Given the description of an element on the screen output the (x, y) to click on. 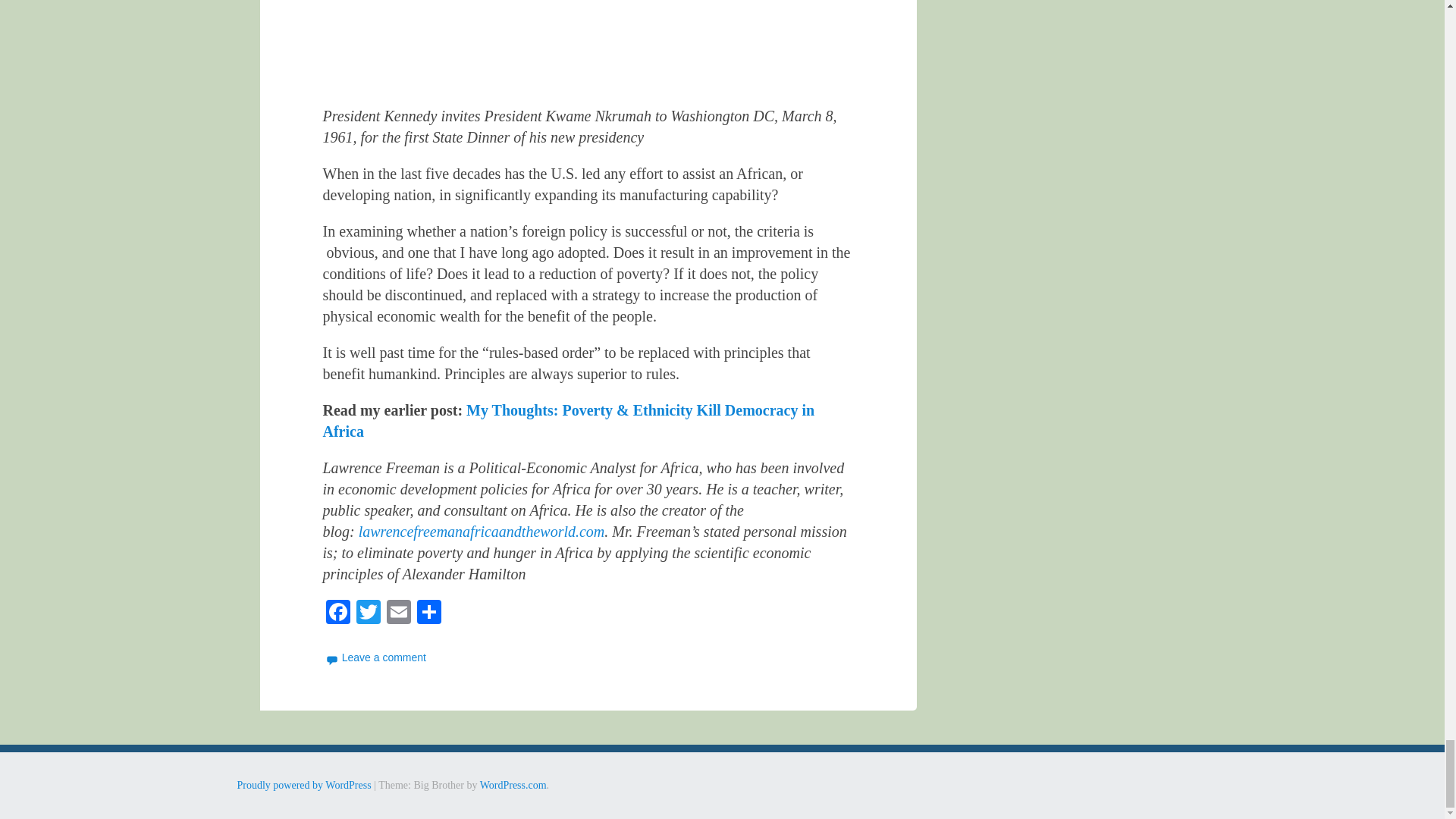
Email (398, 613)
Twitter (368, 613)
Facebook (338, 613)
